Given the description of an element on the screen output the (x, y) to click on. 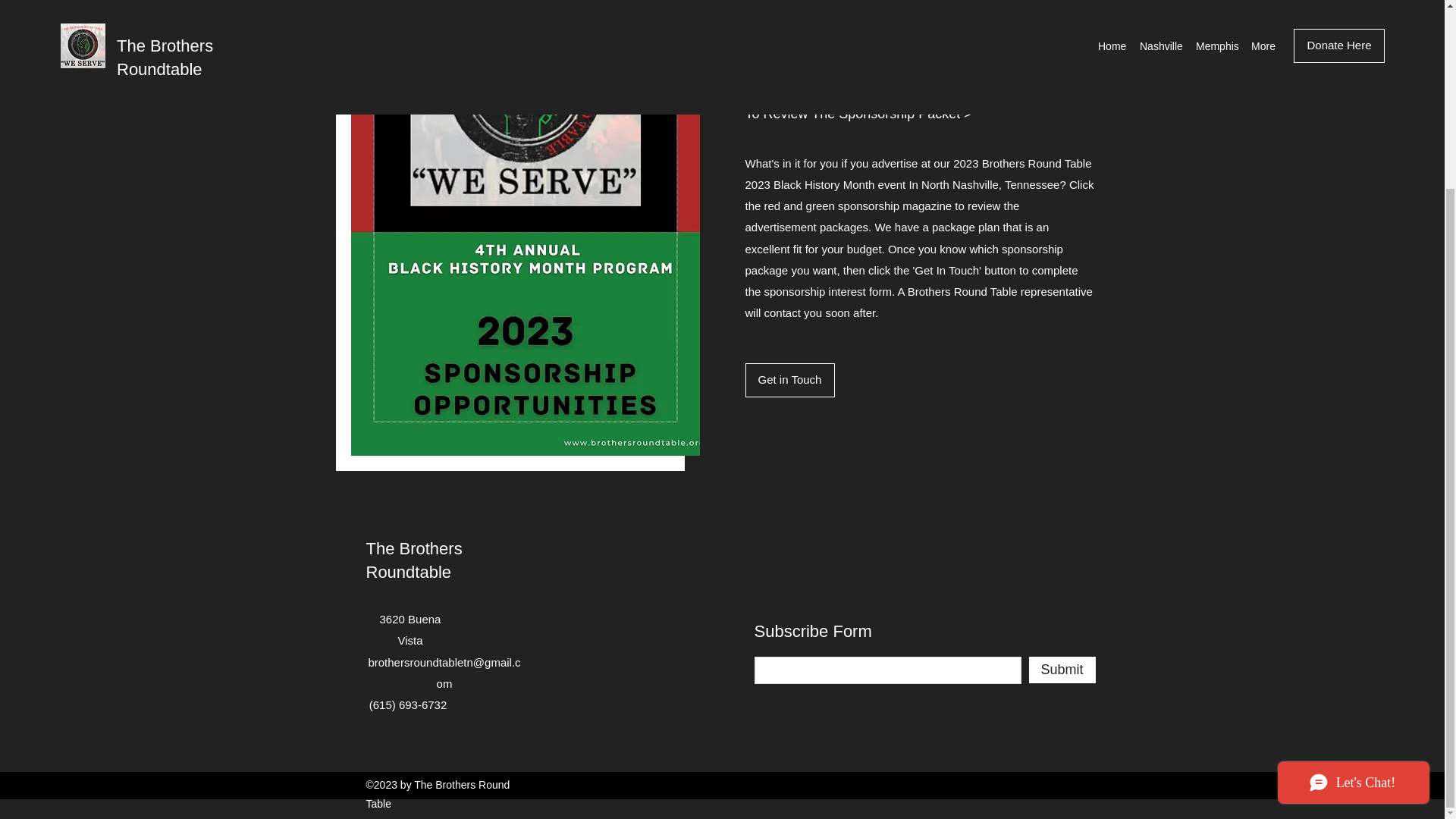
Submit (1060, 669)
The Brothers Roundtable (413, 559)
Get in Touch (789, 380)
